Given the description of an element on the screen output the (x, y) to click on. 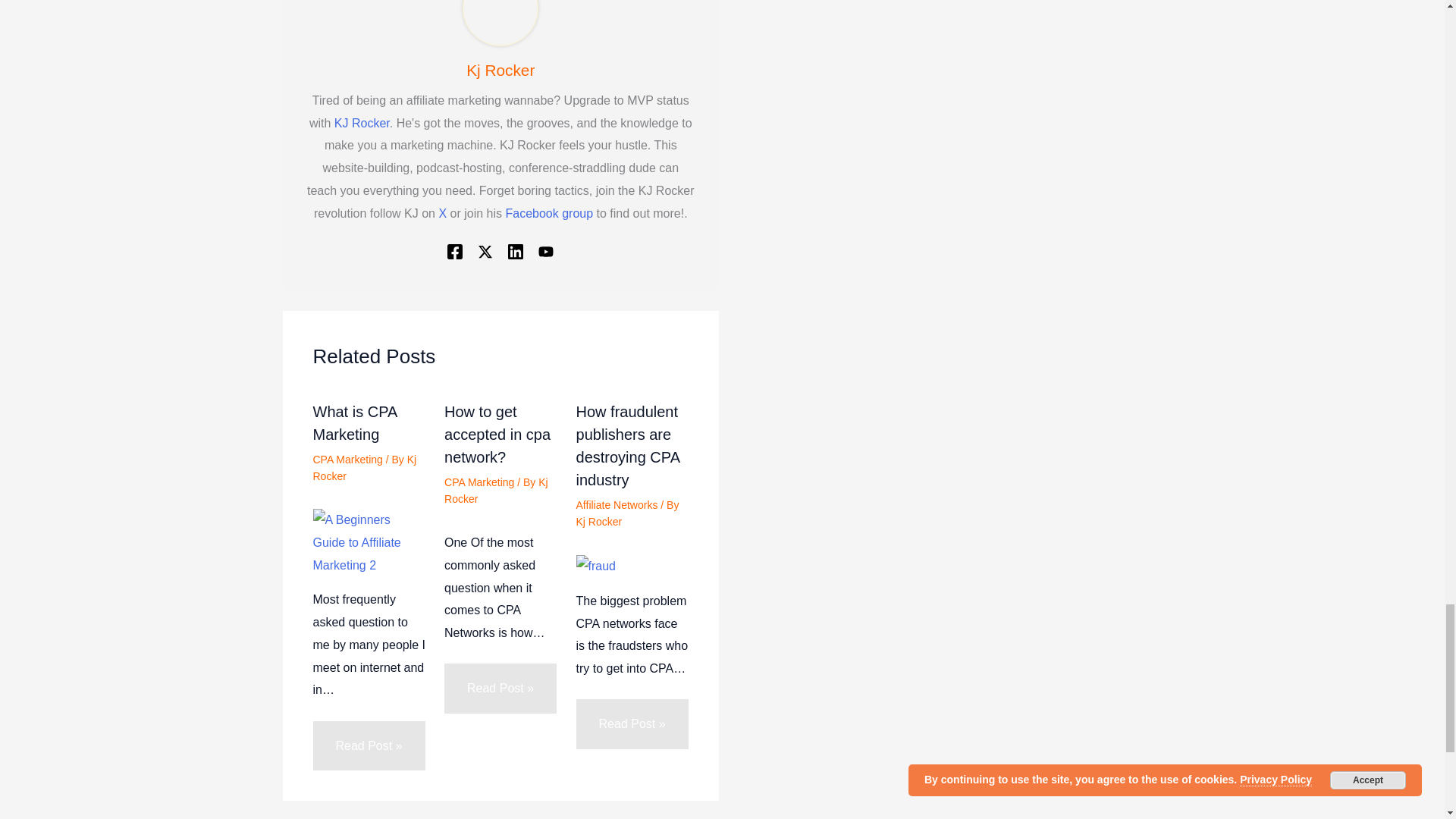
View all posts by Kj Rocker (364, 467)
View all posts by Kj Rocker (599, 521)
Kj Rocker (499, 69)
KJ Rocker (362, 123)
View all posts by Kj Rocker (496, 490)
